Given the description of an element on the screen output the (x, y) to click on. 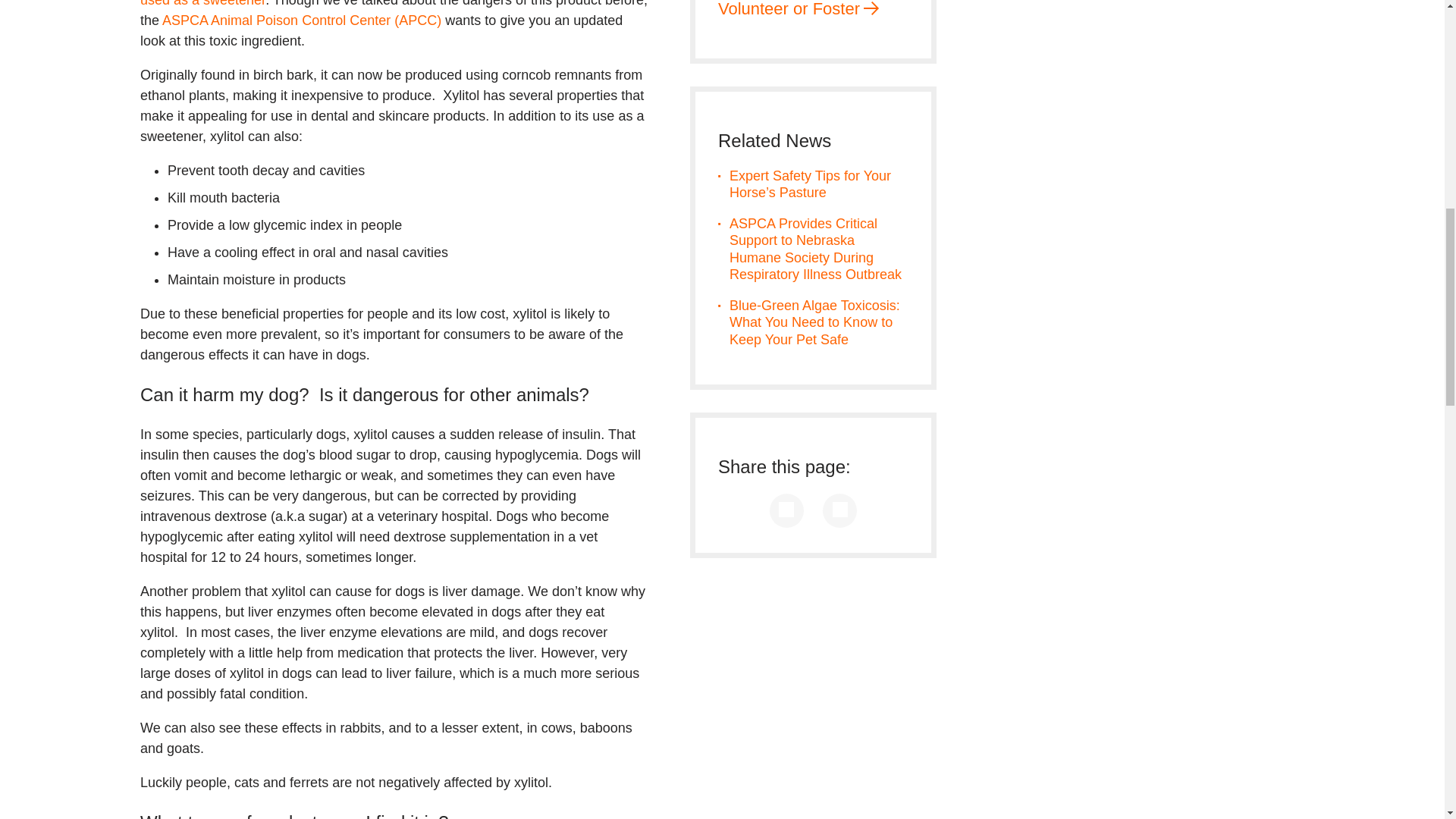
Share on Facebook (786, 510)
Share this on Twitter (839, 510)
